Given the description of an element on the screen output the (x, y) to click on. 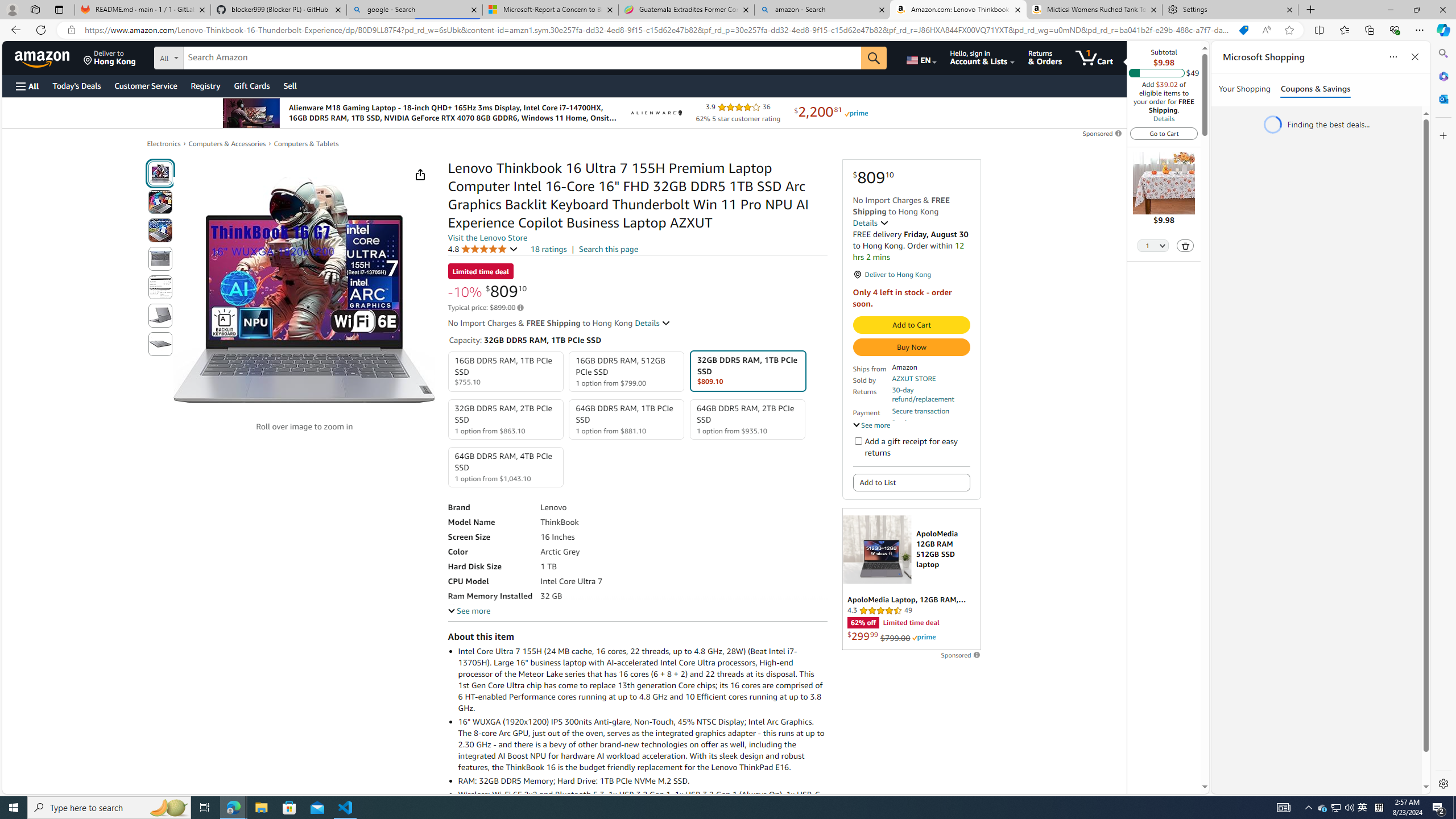
64GB DDR5 RAM, 1TB PCIe SSD 1 option from $881.10 (626, 418)
Choose a language for shopping. (920, 57)
18 ratings (547, 248)
Details  (652, 322)
Learn more about Amazon pricing and savings (520, 307)
30-day refund/replacement (930, 394)
Open Menu (26, 86)
Shopping in Microsoft Edge (1243, 29)
